Given the description of an element on the screen output the (x, y) to click on. 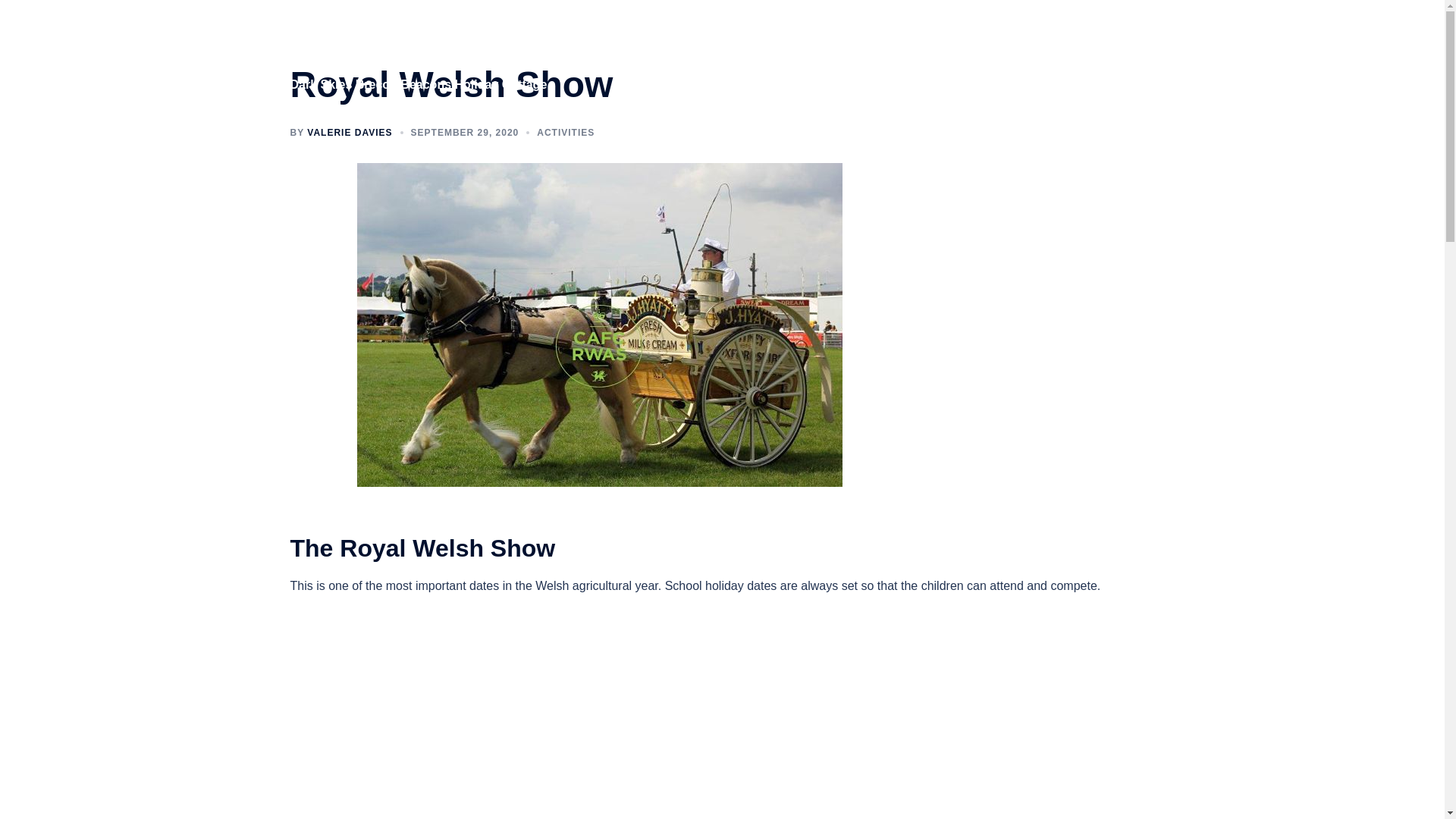
Gallery (910, 54)
Aberyscir Coach House (385, 43)
Booking (1124, 54)
About Us (850, 54)
Coach House (775, 54)
Brecon Beacons (987, 54)
SEPTEMBER 29, 2020 (464, 132)
VALERIE DAVIES (349, 132)
Home (708, 54)
Find Us (1066, 54)
